Given the description of an element on the screen output the (x, y) to click on. 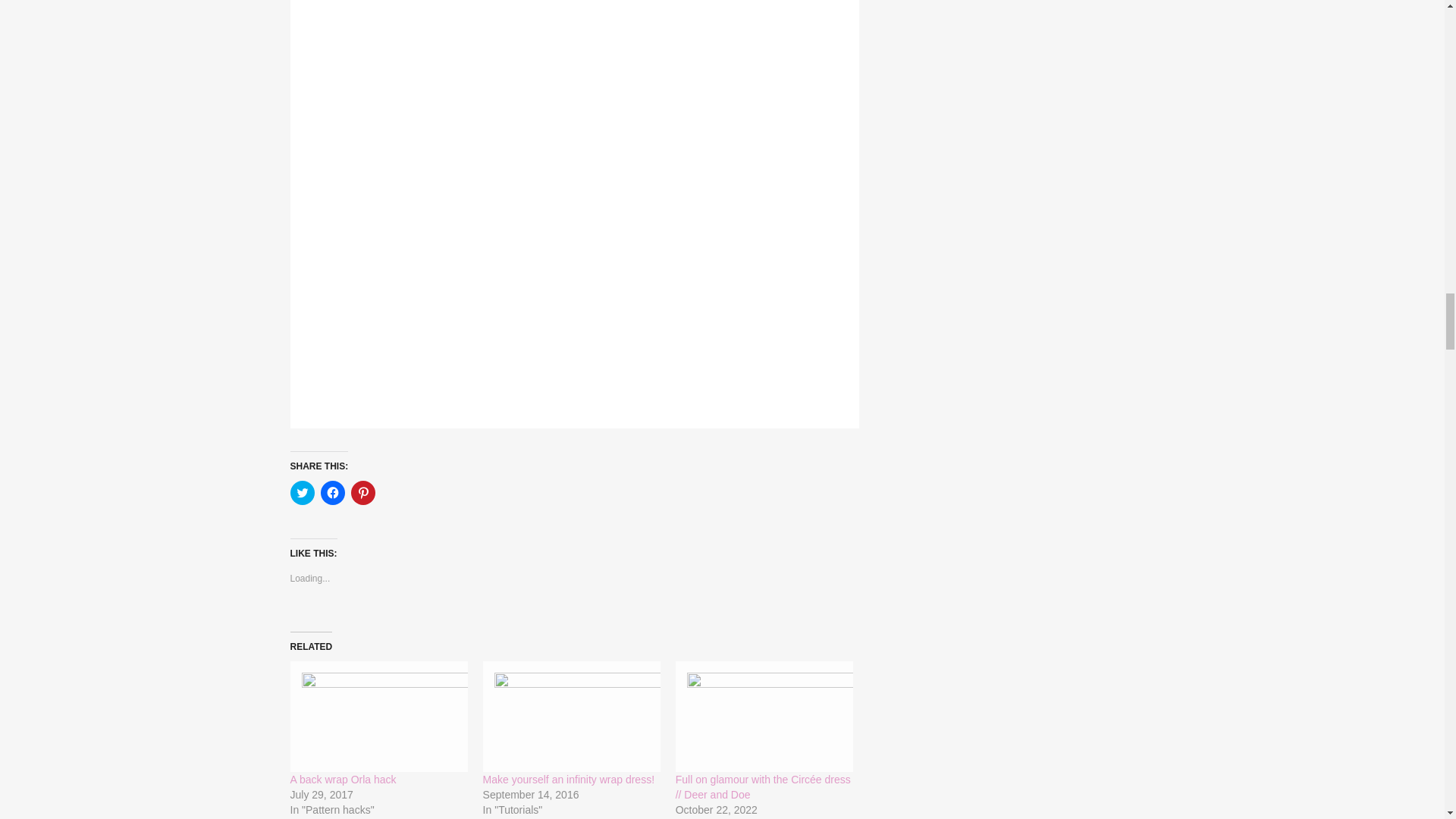
Click to share on Pinterest (362, 492)
Make yourself an infinity wrap dress! (568, 779)
Click to share on Facebook (331, 492)
Make yourself an infinity wrap dress! (572, 716)
Click to share on Twitter (301, 492)
A back wrap Orla hack  (343, 779)
Make yourself an infinity wrap dress! (568, 779)
